Given the description of an element on the screen output the (x, y) to click on. 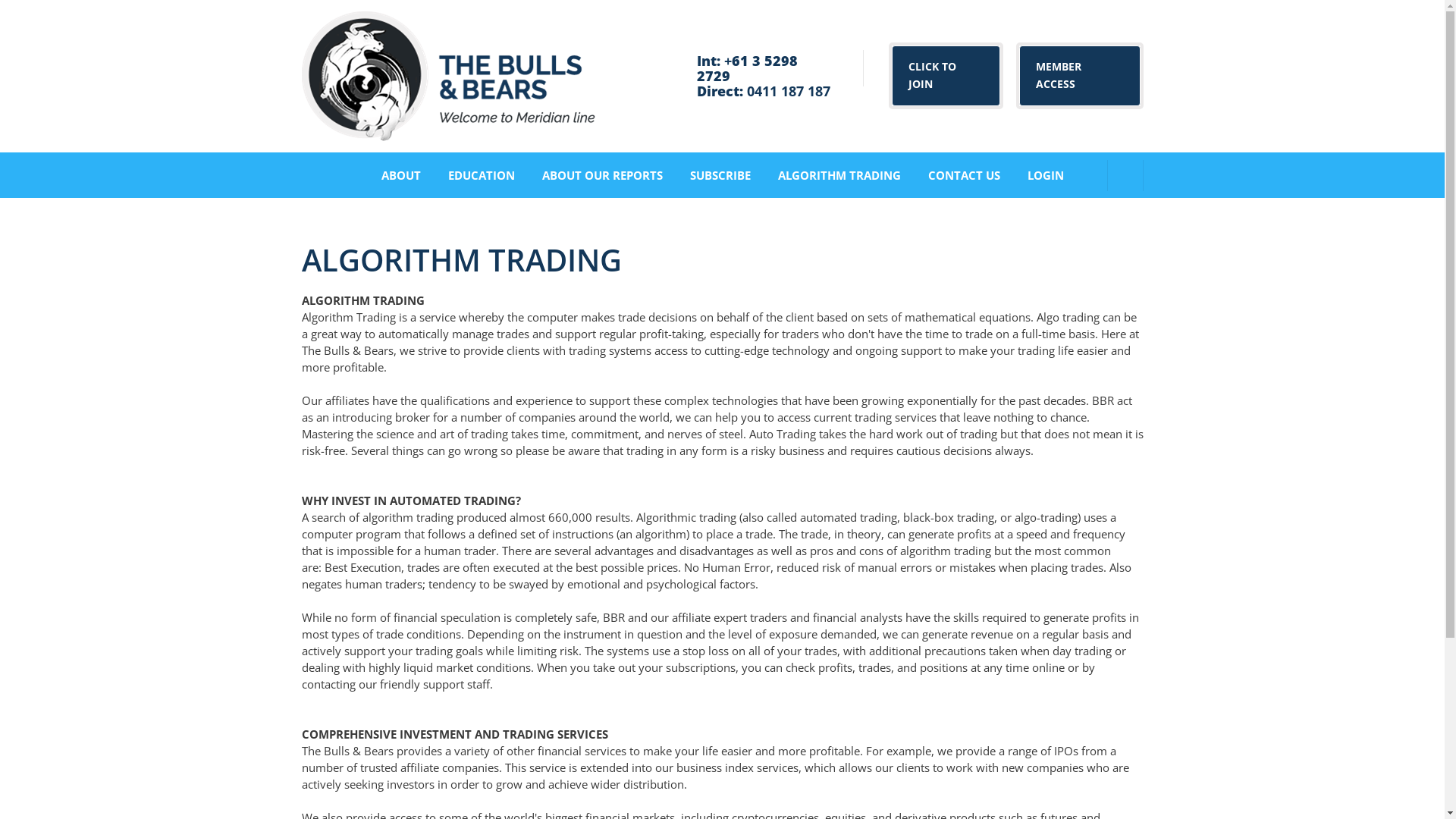
MEMBER ACCESS Element type: text (1079, 75)
EDUCATION Element type: text (480, 174)
SUBSCRIBE Element type: text (720, 174)
ABOUT OUR REPORTS Element type: text (601, 174)
0411 187 187 Element type: text (788, 90)
LOGIN Element type: text (1044, 174)
CLICK TO JOIN Element type: text (945, 75)
CONTACT US Element type: text (963, 174)
ABOUT Element type: text (400, 174)
ALGORITHM TRADING Element type: text (839, 174)
+ Element type: text (727, 60)
